Given the description of an element on the screen output the (x, y) to click on. 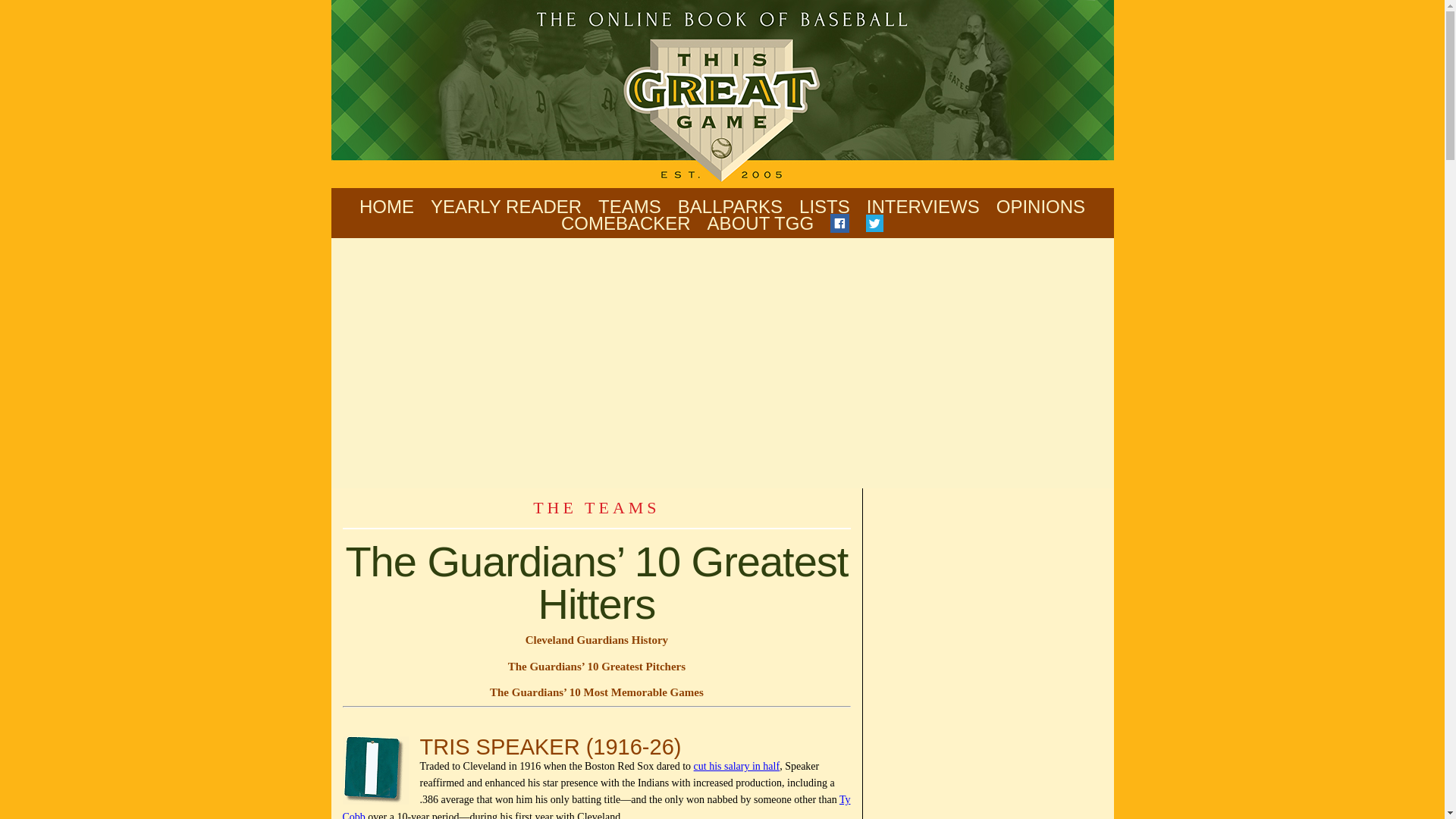
INTERVIEWS (922, 206)
BALLPARKS (730, 206)
LISTS (824, 206)
YEARLY READER (505, 206)
HOME (386, 206)
OPINIONS (1039, 206)
TGG ON TWITTER (874, 224)
TGG ON FACEBOOK (838, 224)
TEAMS (629, 206)
